Given the description of an element on the screen output the (x, y) to click on. 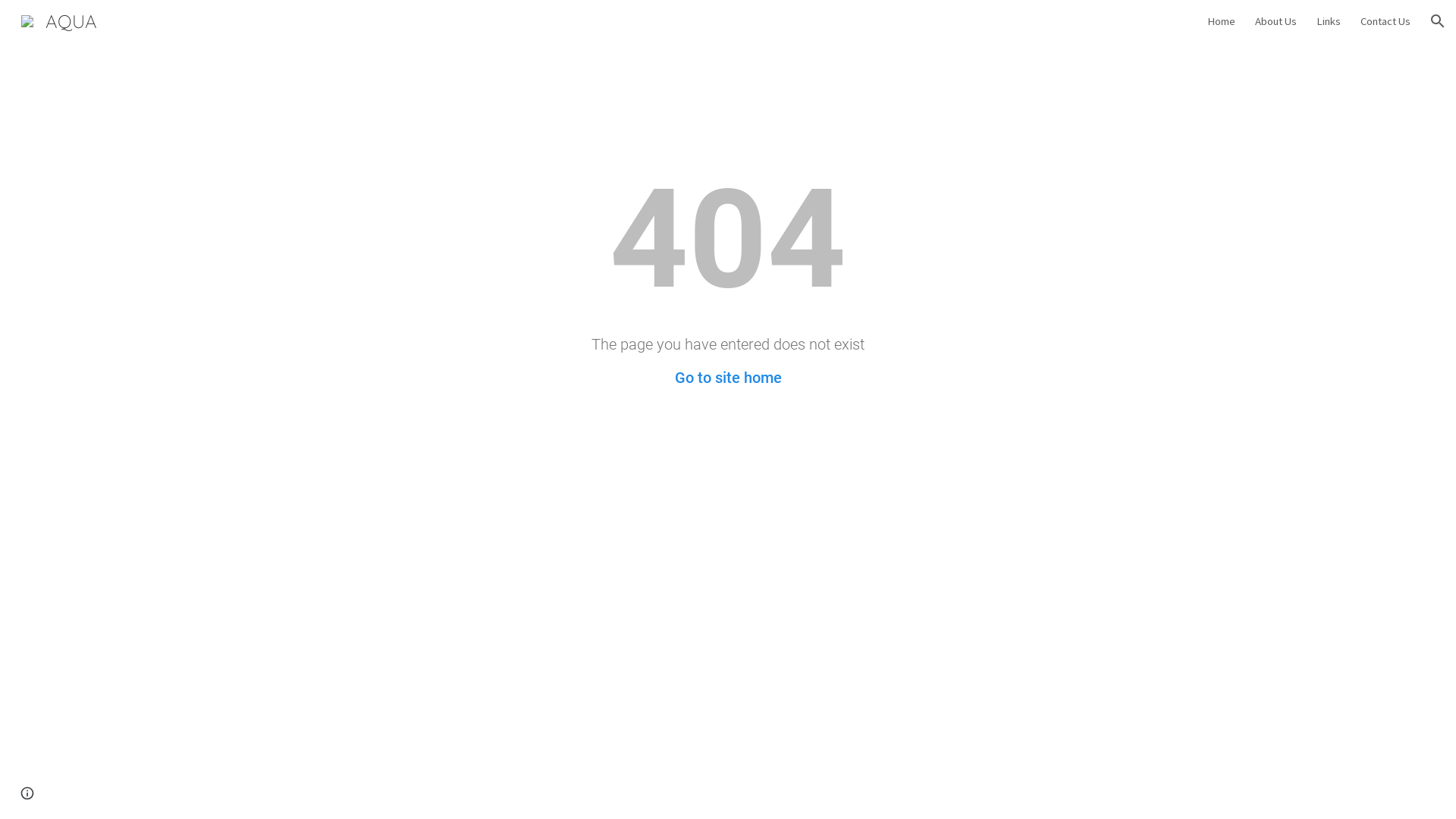
Go to site home Element type: text (727, 377)
Contact Us Element type: text (1385, 21)
About Us Element type: text (1275, 21)
Links Element type: text (1328, 21)
AQUA Element type: text (59, 18)
Home Element type: text (1221, 21)
